Given the description of an element on the screen output the (x, y) to click on. 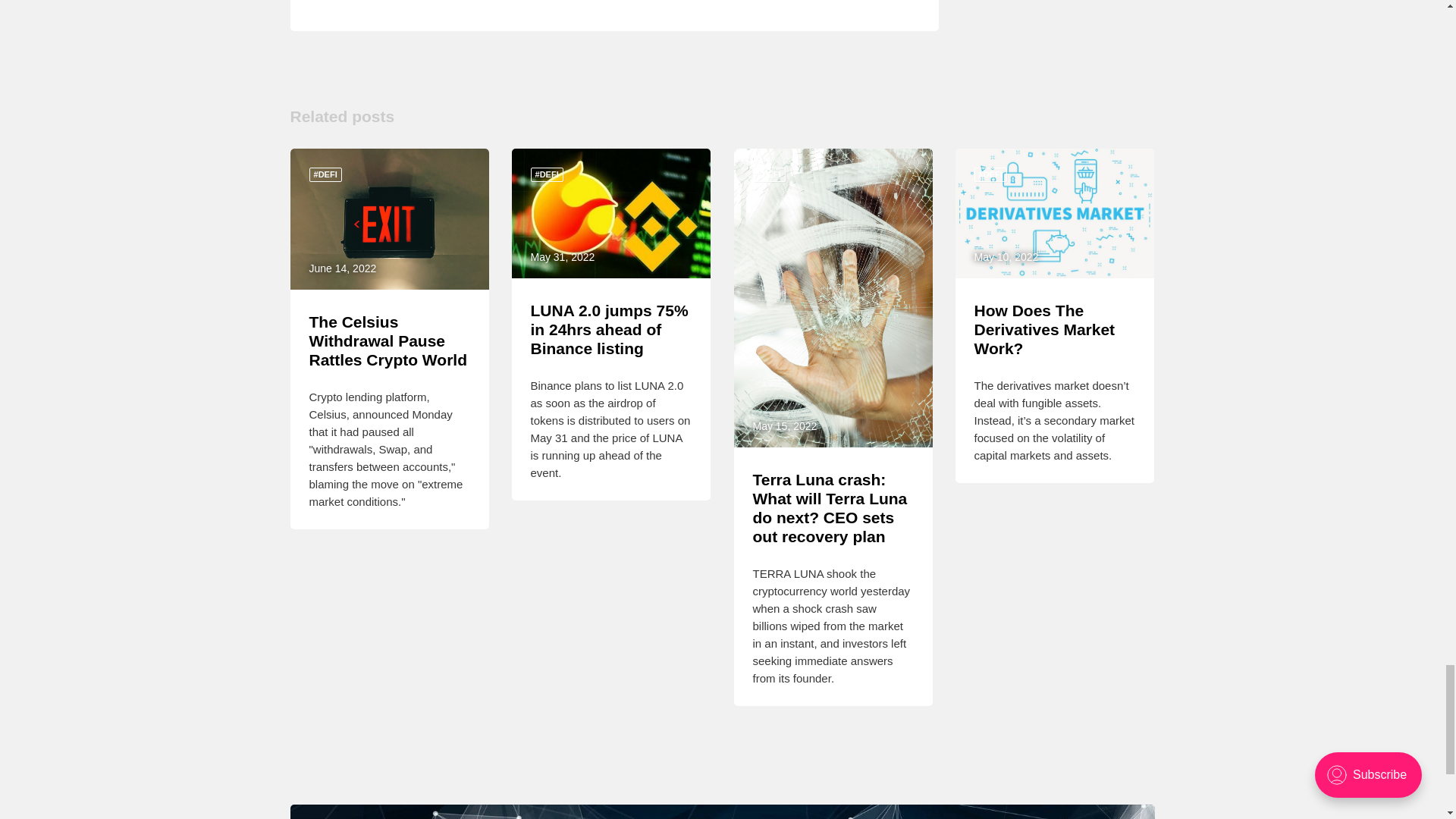
DeFi (325, 174)
DEFI (325, 174)
The Celsius Withdrawal Pause Rattles Crypto World (387, 340)
DEFI (768, 174)
DEFI (547, 174)
The Celsius Withdrawal Pause Rattles Crypto World (387, 340)
DeFi (547, 174)
DEFI (990, 174)
